Given the description of an element on the screen output the (x, y) to click on. 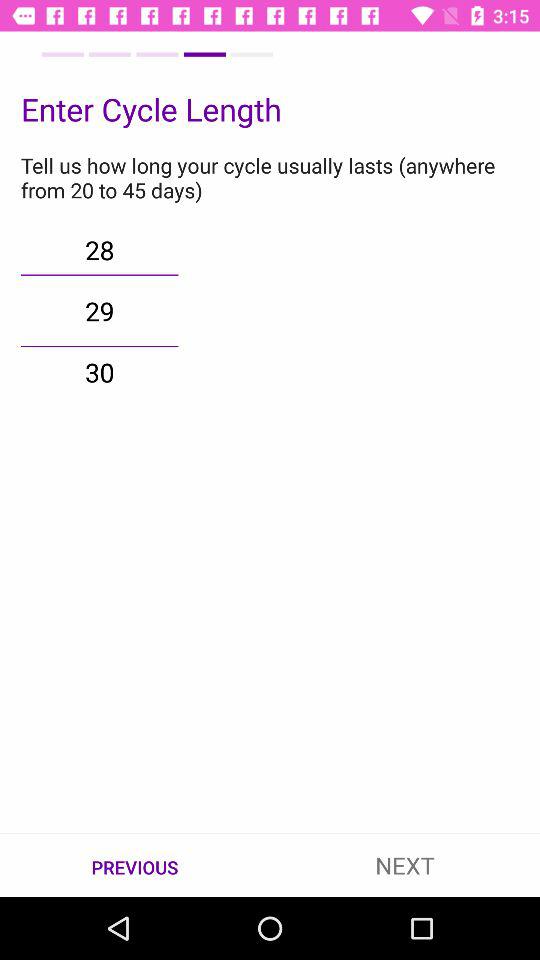
choose the item next to next (135, 865)
